Given the description of an element on the screen output the (x, y) to click on. 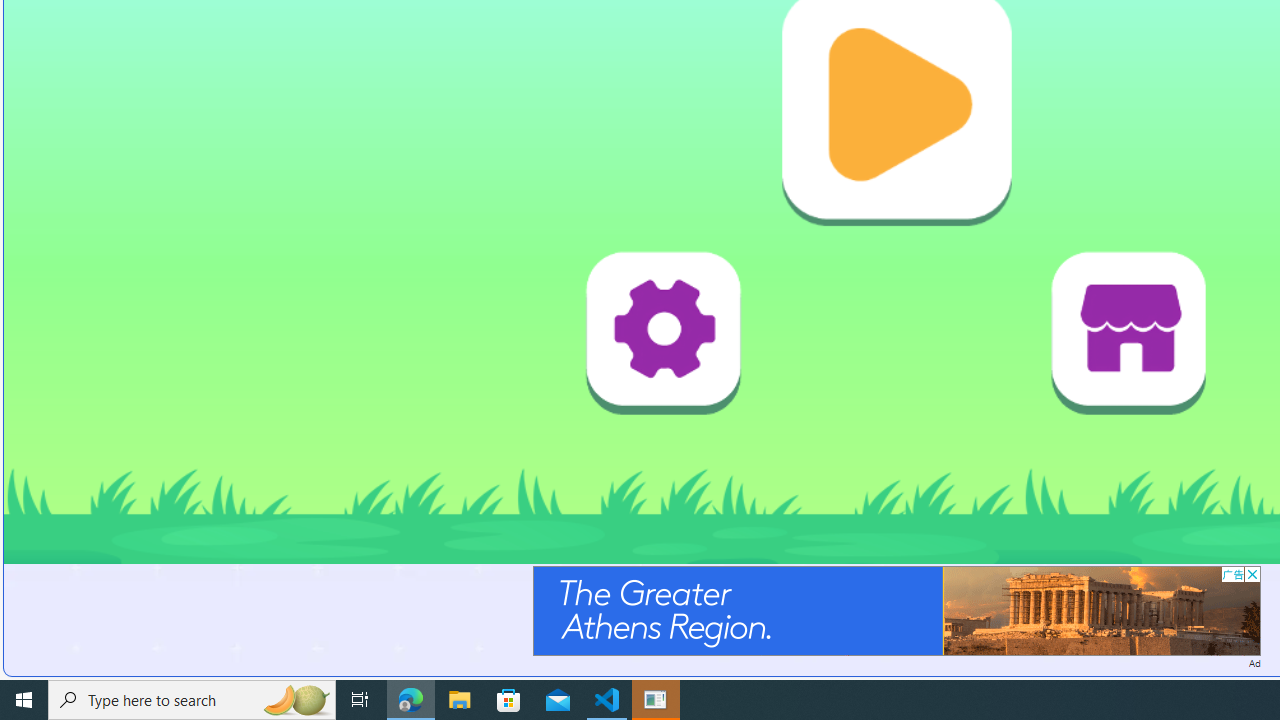
Advertisement (896, 610)
Advertisement (896, 610)
AutomationID: cbb (1252, 574)
